Given the description of an element on the screen output the (x, y) to click on. 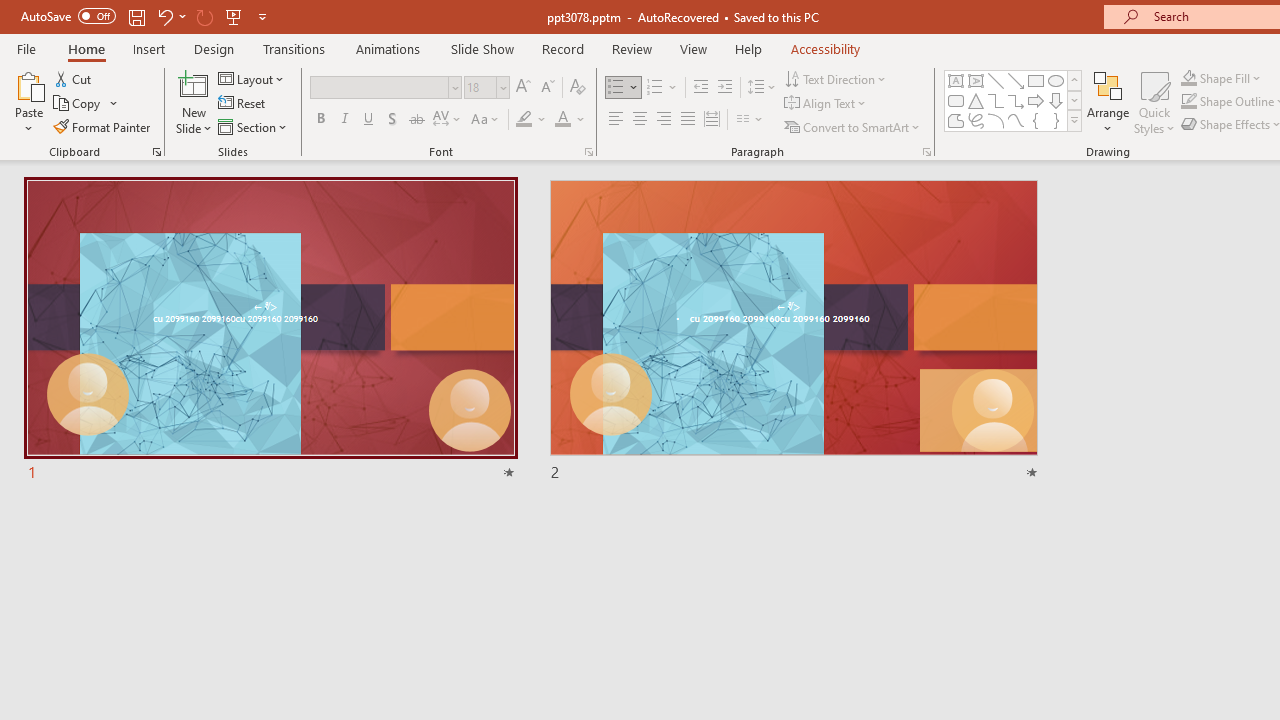
Shape Fill Dark Green, Accent 2 (1188, 78)
